Given the description of an element on the screen output the (x, y) to click on. 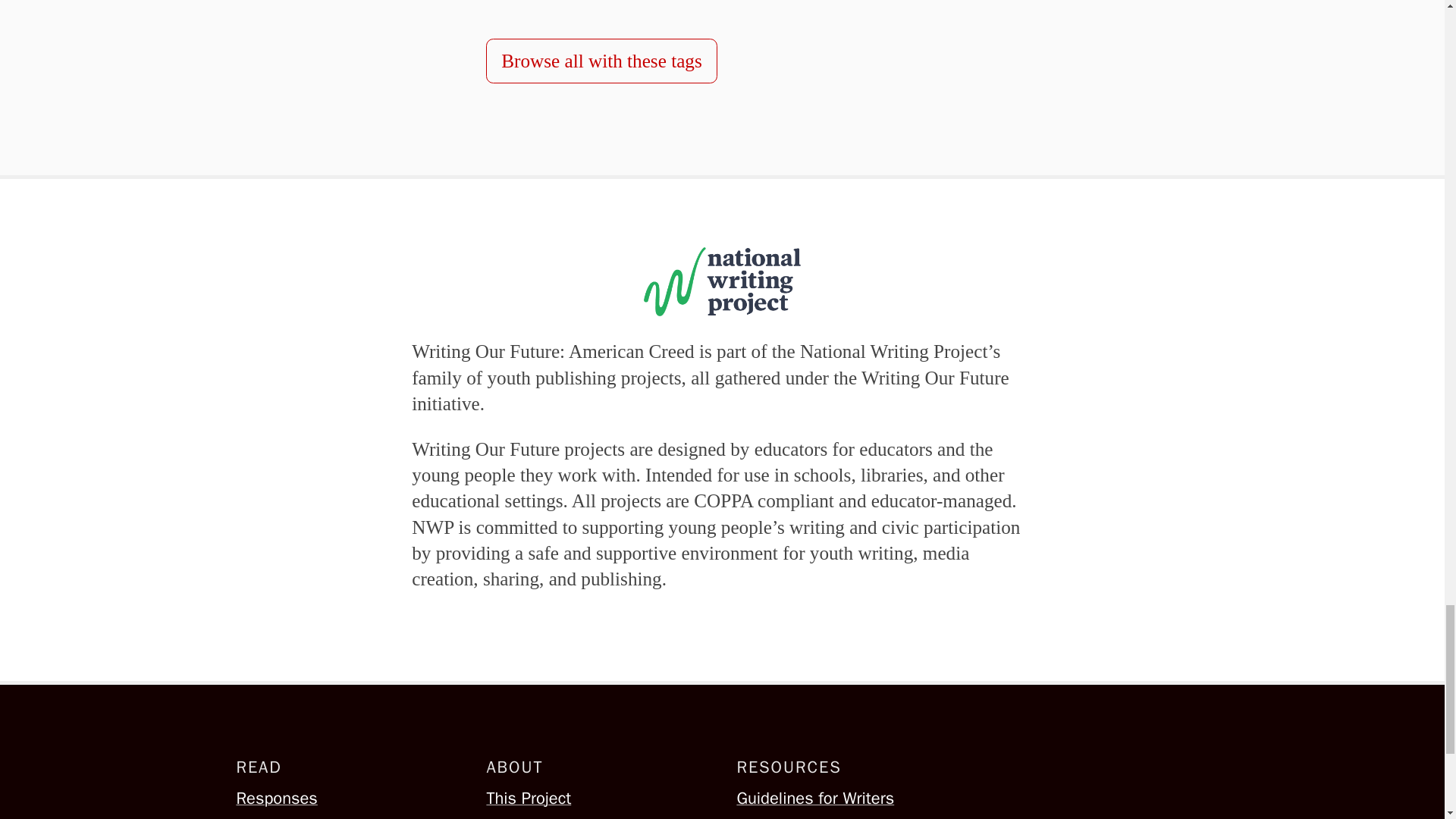
Browse all with these tags (601, 60)
Responses (346, 798)
This Project (596, 798)
